Given the description of an element on the screen output the (x, y) to click on. 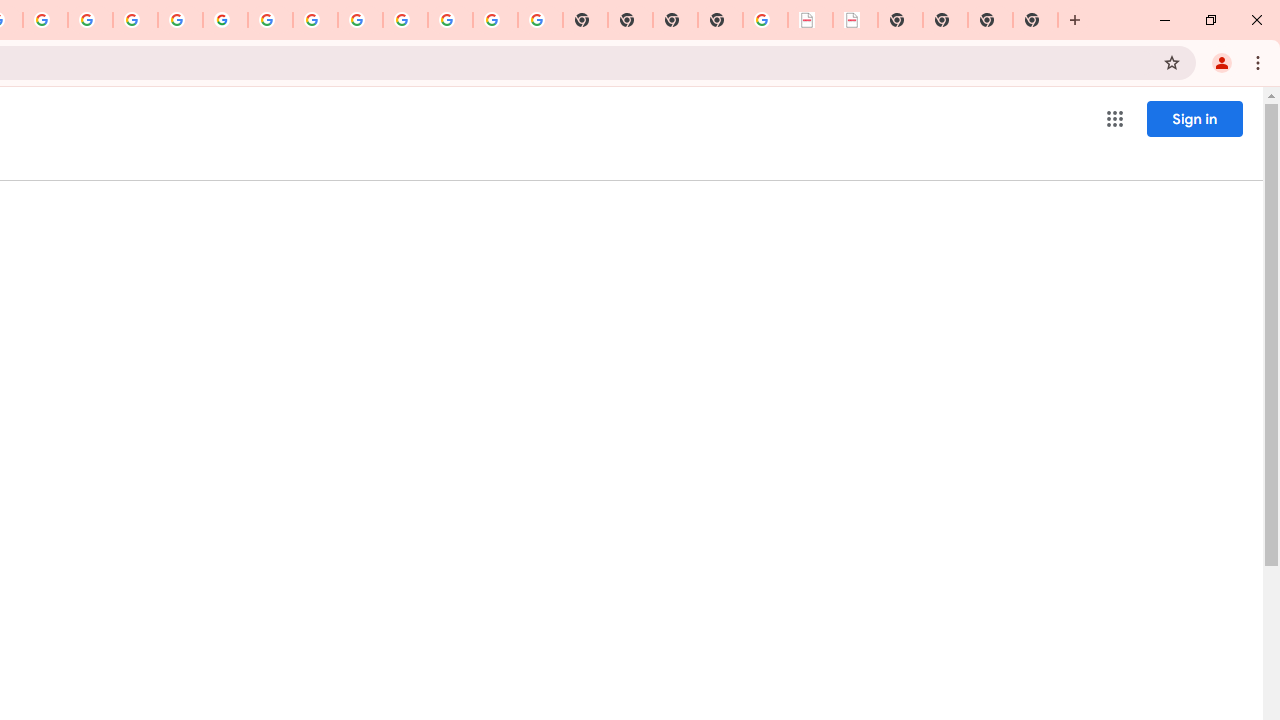
LAAD Defence & Security 2025 | BAE Systems (810, 20)
YouTube (270, 20)
New Tab (1035, 20)
BAE Systems Brasil | BAE Systems (855, 20)
